Given the description of an element on the screen output the (x, y) to click on. 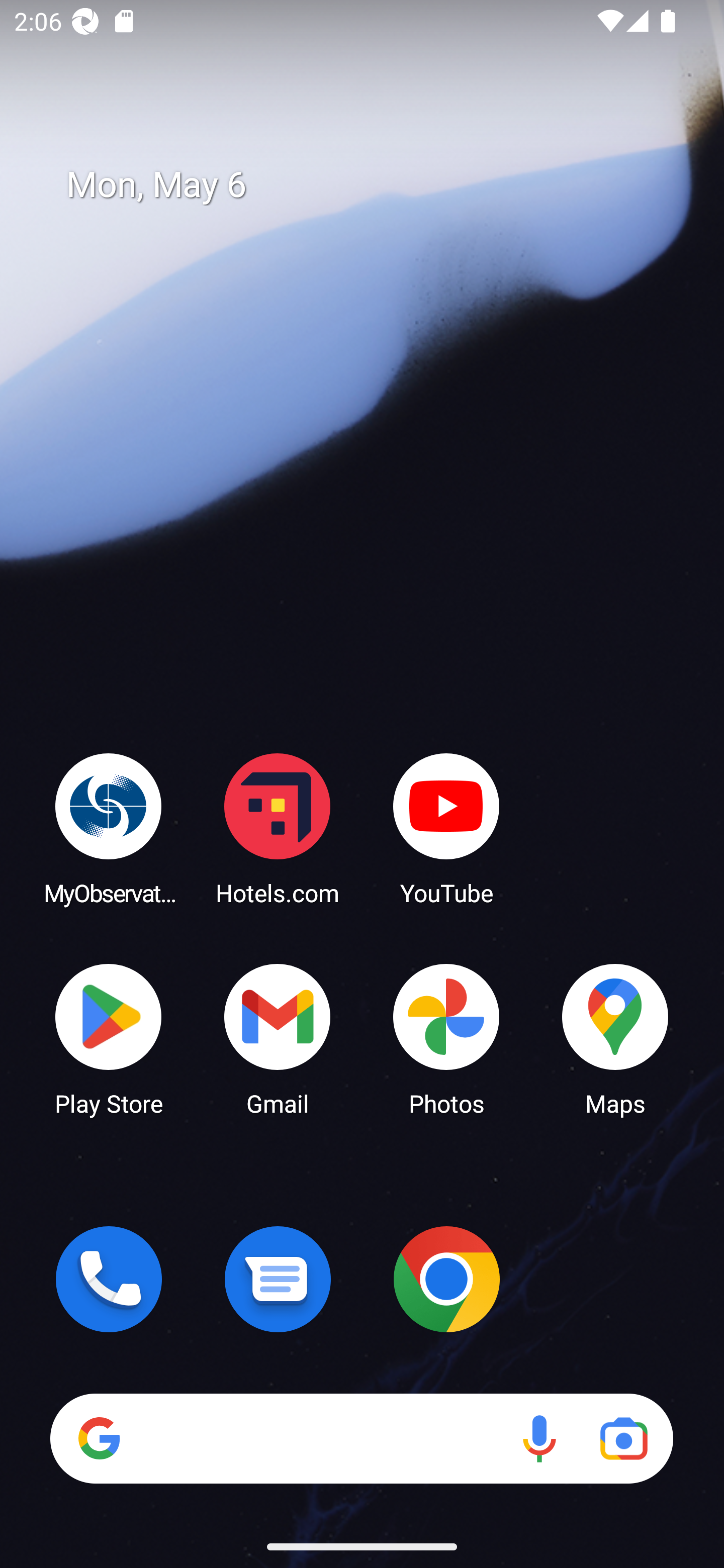
Mon, May 6 (375, 184)
MyObservatory (108, 828)
Hotels.com (277, 828)
YouTube (445, 828)
Play Store (108, 1038)
Gmail (277, 1038)
Photos (445, 1038)
Maps (615, 1038)
Phone (108, 1279)
Messages (277, 1279)
Chrome (446, 1279)
Search Voice search Google Lens (361, 1438)
Voice search (539, 1438)
Google Lens (623, 1438)
